Given the description of an element on the screen output the (x, y) to click on. 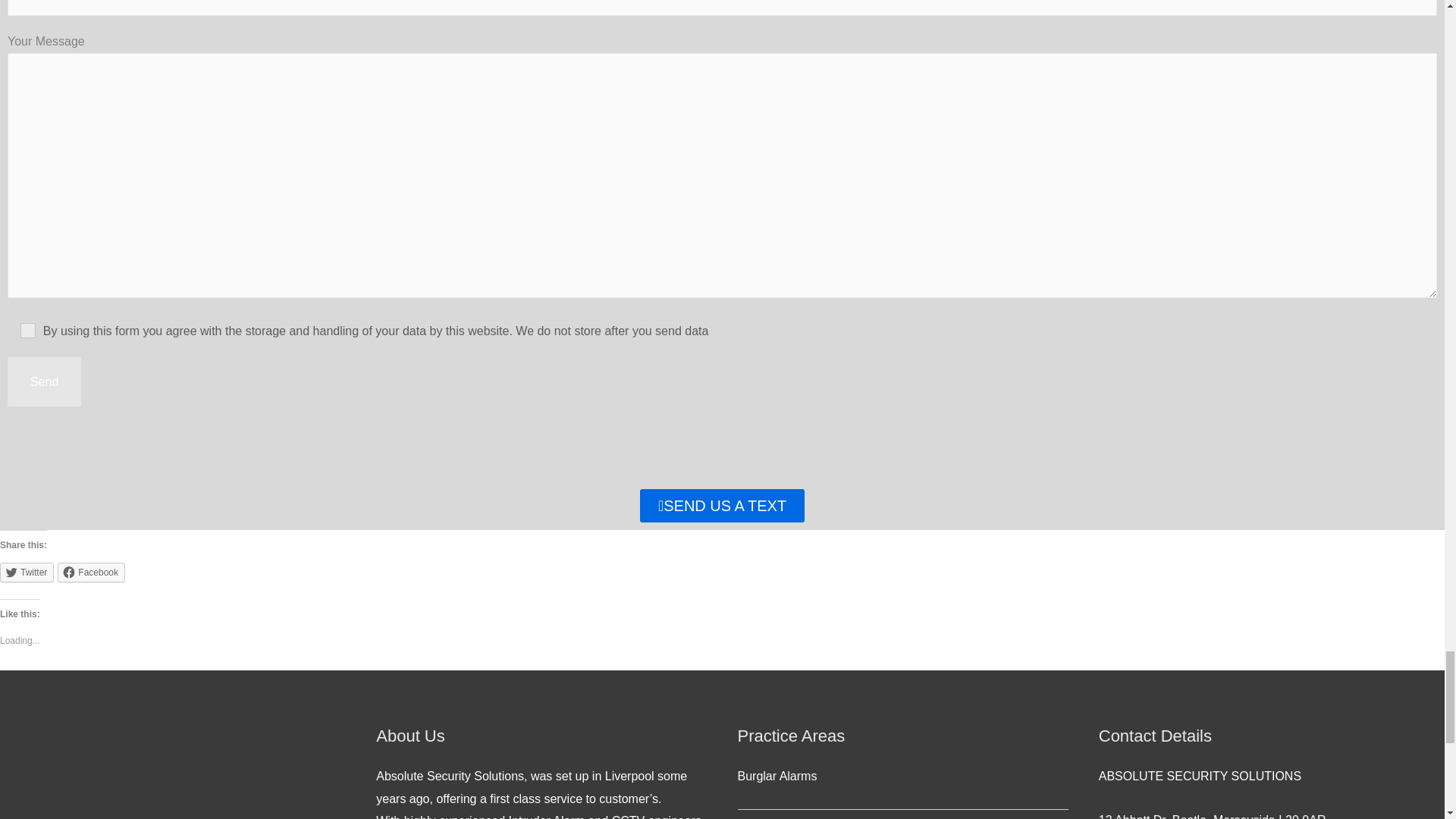
Click to share on Twitter (26, 572)
Twitter (26, 572)
SEND US A TEXT (722, 505)
Click to share on Facebook (91, 572)
Facebook (91, 572)
1 (28, 329)
Send (44, 382)
Send (44, 382)
